Given the description of an element on the screen output the (x, y) to click on. 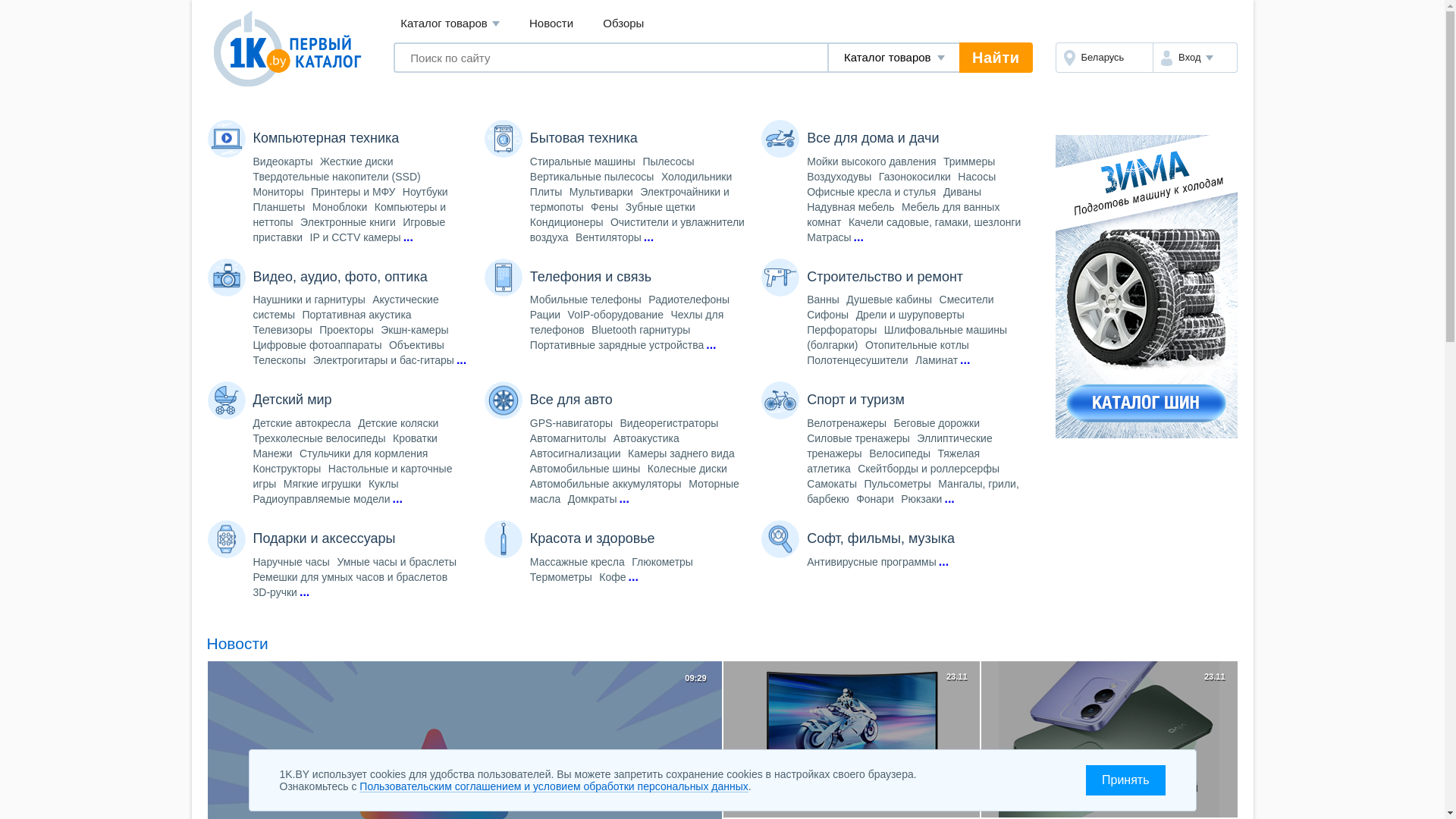
... Element type: text (648, 236)
... Element type: text (964, 359)
... Element type: text (408, 236)
... Element type: text (710, 344)
... Element type: text (858, 236)
... Element type: text (948, 498)
... Element type: text (397, 498)
... Element type: text (943, 561)
... Element type: text (624, 498)
... Element type: text (304, 591)
... Element type: text (461, 359)
... Element type: text (632, 576)
